Given the description of an element on the screen output the (x, y) to click on. 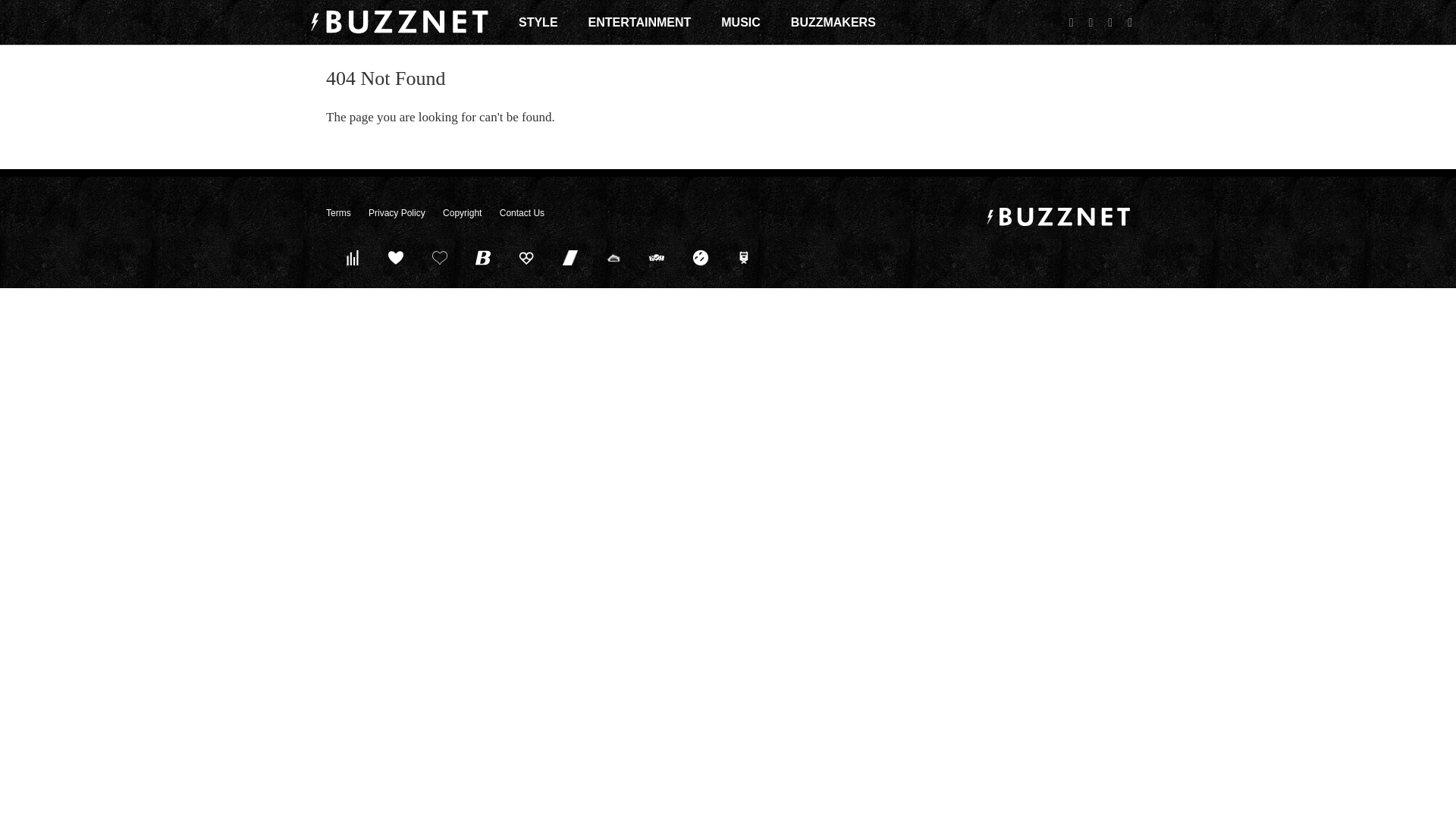
BUZZMAKERS (833, 22)
Terms (338, 213)
Quizscape (656, 257)
MUSIC (740, 22)
Taco Relish (612, 257)
Post Fun (439, 257)
STYLE (538, 22)
Pure Volume (351, 257)
Copyright (461, 213)
Daily Funny (699, 257)
BleacherBreaker (483, 257)
Trend Chaser (570, 257)
Hooch (526, 257)
Idolator (395, 257)
ENTERTAINMENT (639, 22)
